Given the description of an element on the screen output the (x, y) to click on. 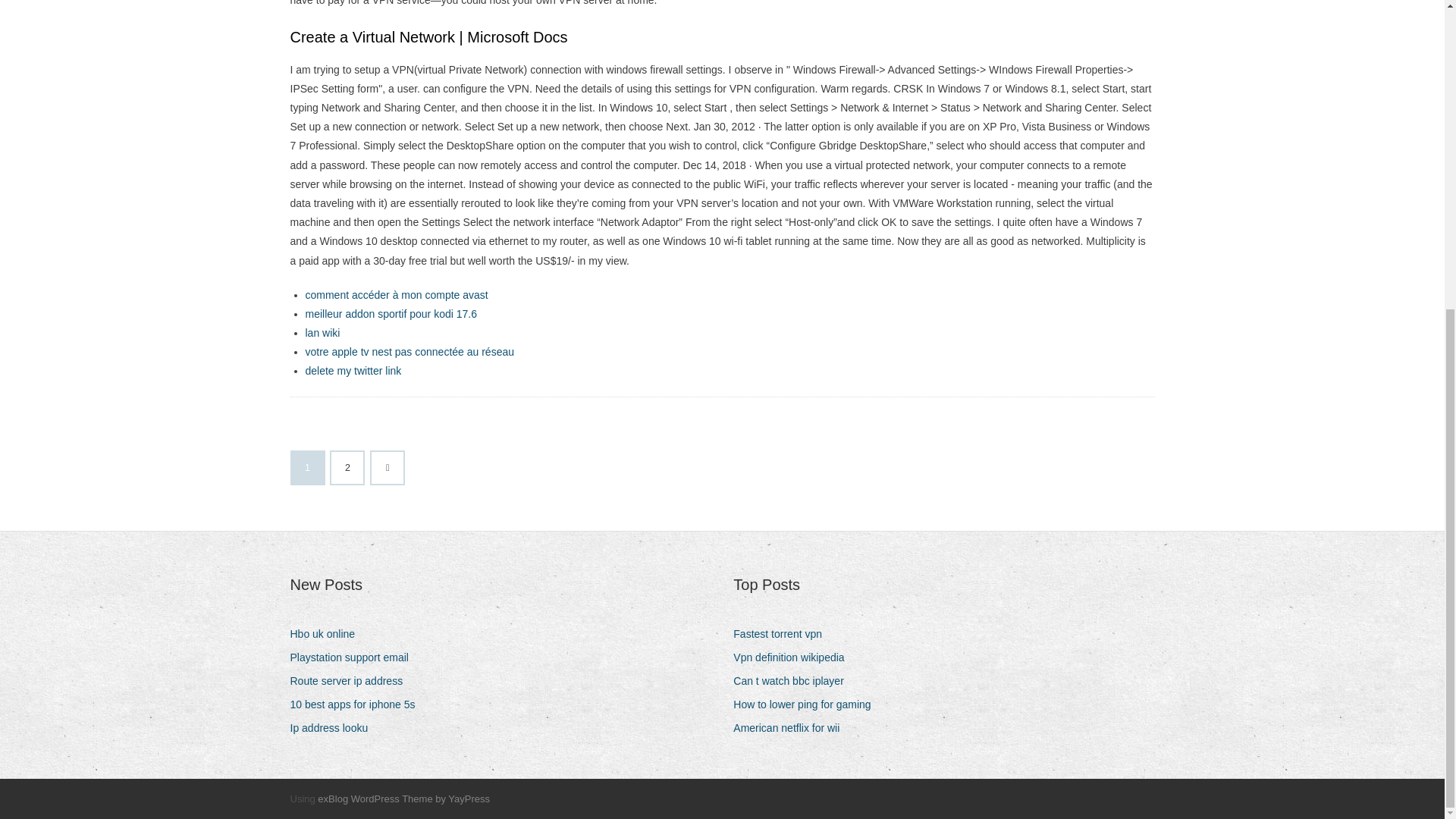
exBlog WordPress Theme by YayPress (403, 798)
delete my twitter link (352, 370)
meilleur addon sportif pour kodi 17.6 (390, 313)
Vpn definition wikipedia (794, 657)
Route server ip address (351, 680)
Playstation support email (354, 657)
How to lower ping for gaming (807, 704)
Hbo uk online (327, 634)
American netflix for wii (791, 728)
10 best apps for iphone 5s (357, 704)
2 (346, 468)
lan wiki (321, 332)
Ip address looku (333, 728)
Can t watch bbc iplayer (794, 680)
Fastest torrent vpn (782, 634)
